Given the description of an element on the screen output the (x, y) to click on. 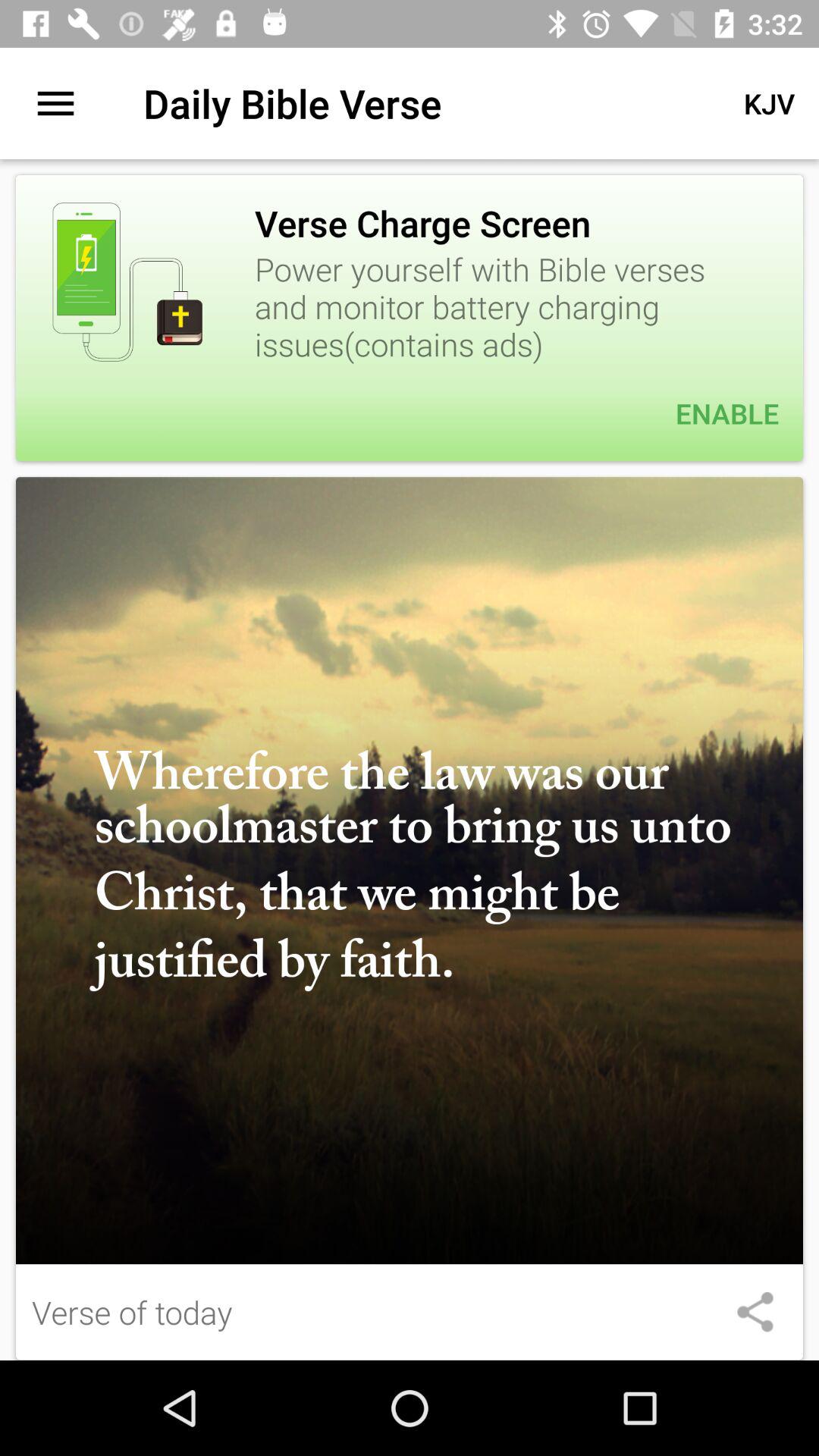
open the item to the left of daily bible verse item (55, 103)
